Given the description of an element on the screen output the (x, y) to click on. 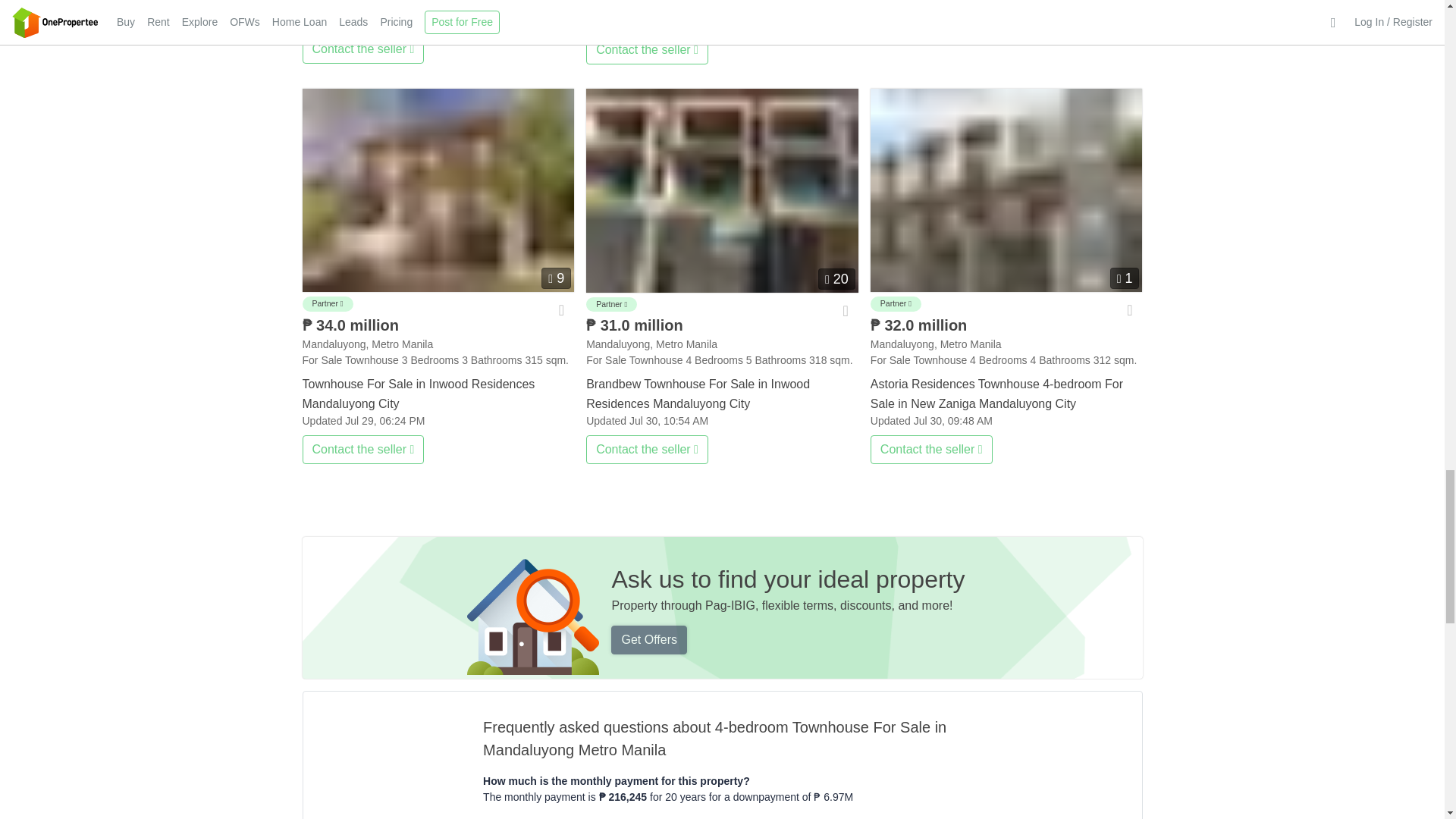
Townhouse For Sale in Inwood Residences Mandaluyong City (437, 189)
Townhouse For Sale in Inwood Residences Mandaluyong City (437, 390)
